Given the description of an element on the screen output the (x, y) to click on. 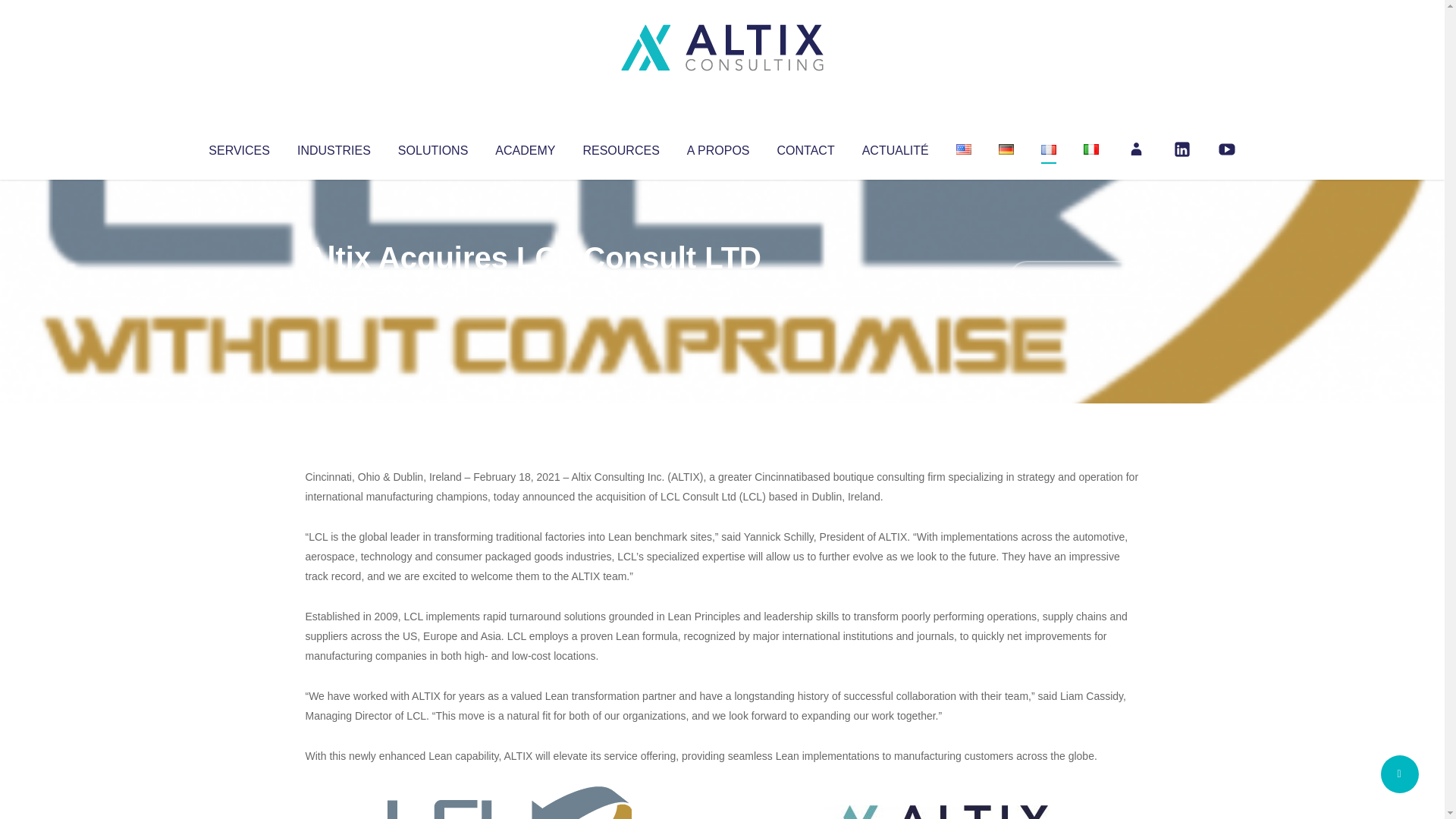
SOLUTIONS (432, 146)
INDUSTRIES (334, 146)
Uncategorized (530, 287)
SERVICES (238, 146)
RESOURCES (620, 146)
Articles par Altix (333, 287)
Altix (333, 287)
ACADEMY (524, 146)
A PROPOS (718, 146)
No Comments (1073, 278)
